Given the description of an element on the screen output the (x, y) to click on. 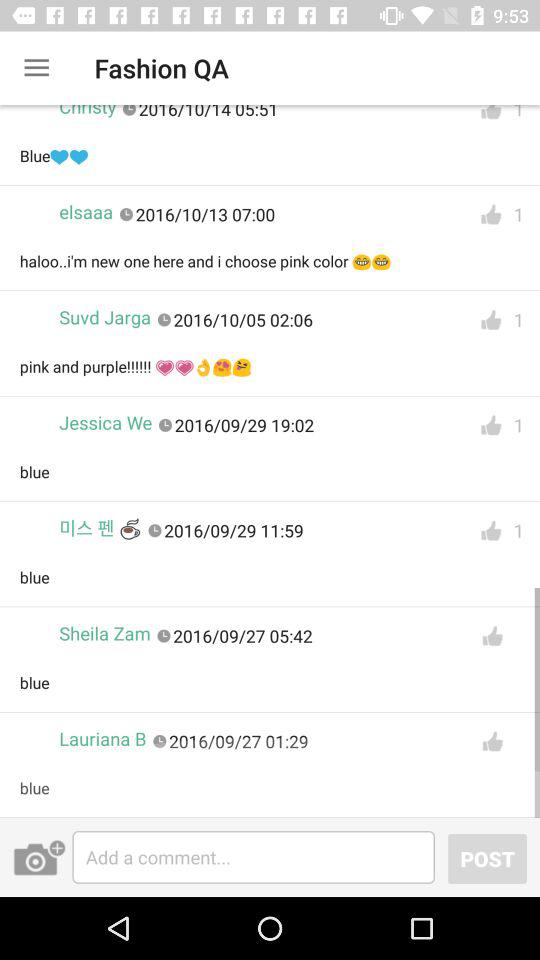
write a comment (253, 857)
